Given the description of an element on the screen output the (x, y) to click on. 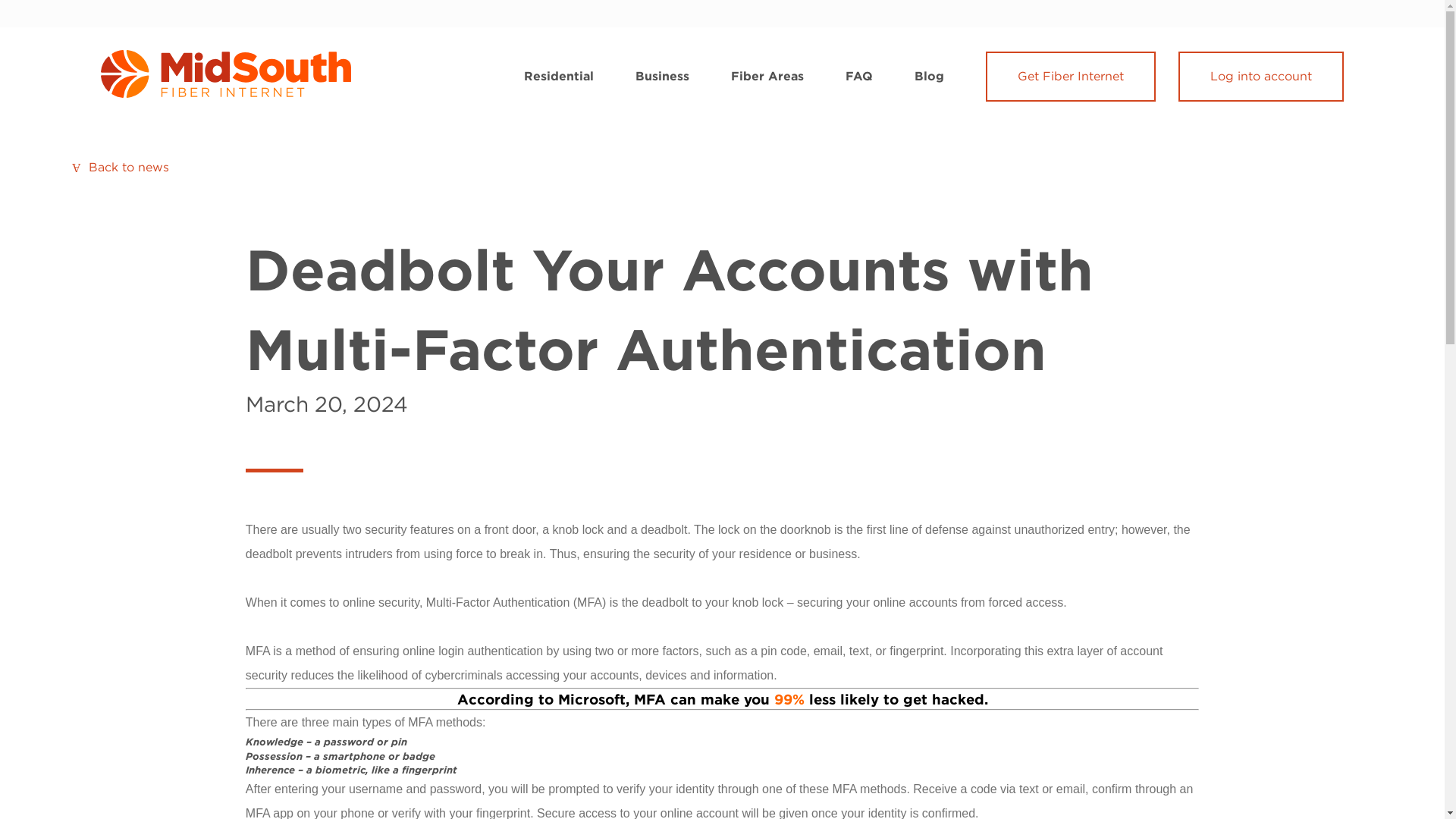
FAQ (858, 75)
Log into account (1260, 76)
Business (661, 75)
Residential (559, 75)
Fiber Areas (766, 75)
Blog (928, 75)
Get Fiber Internet (1070, 76)
